Given the description of an element on the screen output the (x, y) to click on. 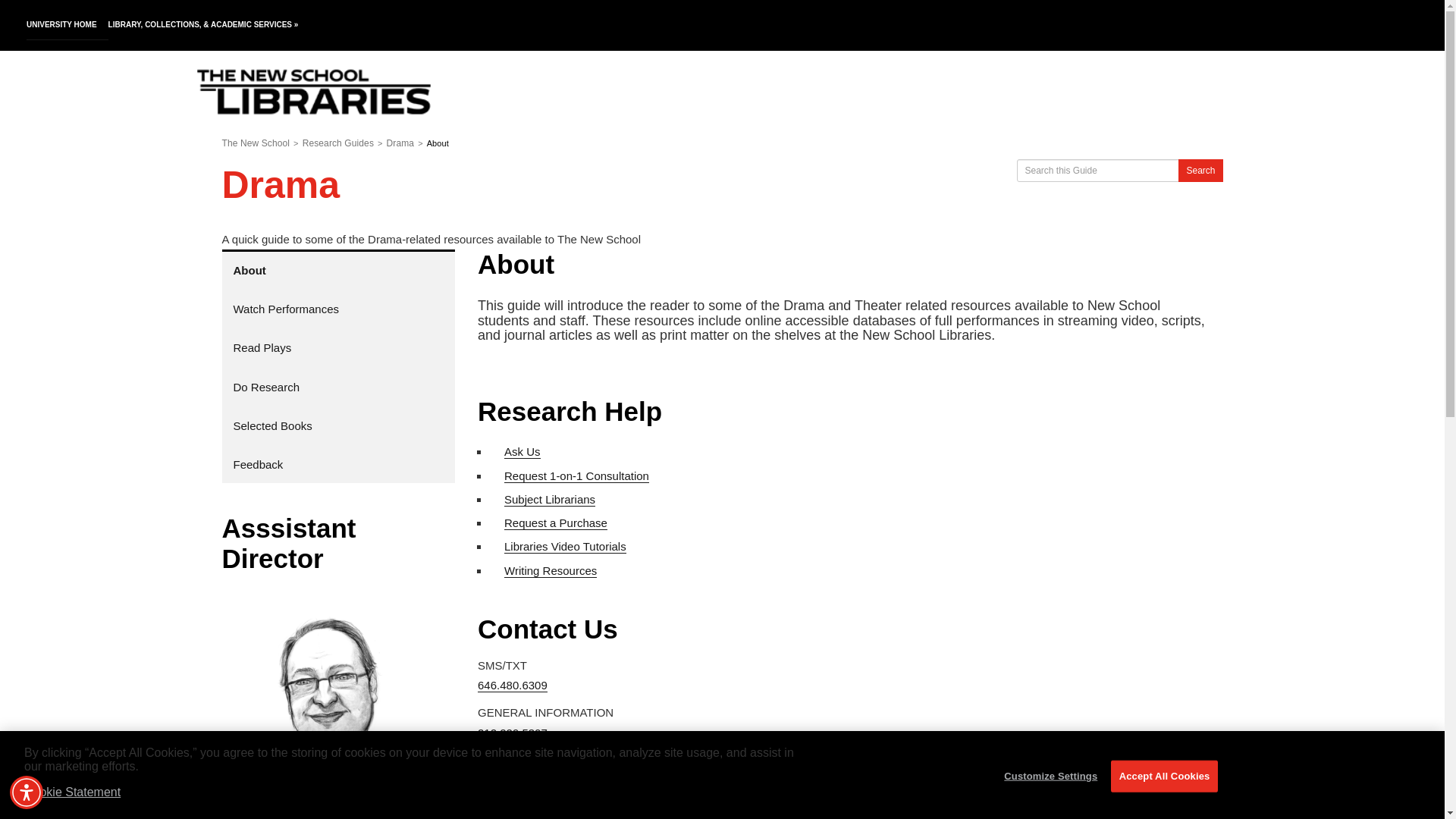
Request a Purchase (555, 522)
Libraries Video Tutorials (564, 546)
212.229.5307 (512, 733)
646.480.6309 (512, 685)
Request 1-on-1 Consultation (576, 476)
The New School (255, 143)
212.229.5942 (512, 799)
Ask Us (521, 451)
Accessibility Menu (26, 792)
Search (1200, 169)
Writing Resources (549, 571)
Read Plays (338, 347)
Subject Librarians (549, 499)
UNIVERSITY HOME (66, 25)
The purpose of this guide. (338, 270)
